Given the description of an element on the screen output the (x, y) to click on. 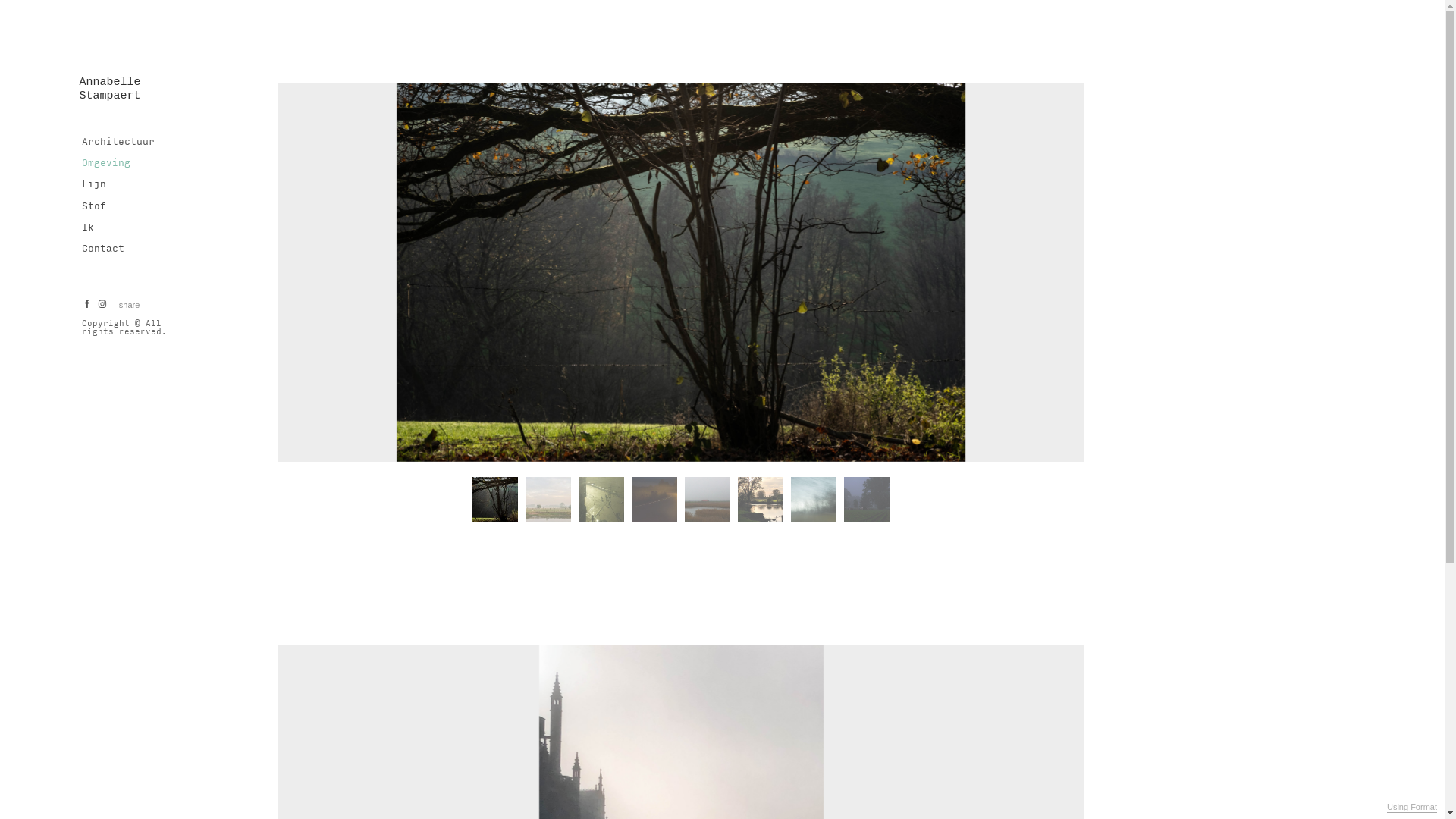
Architectuur Element type: text (118, 141)
Annabelle Stampaert Element type: text (110, 88)
Contact Element type: text (103, 248)
Stof Element type: text (94, 205)
Ik Element type: text (88, 227)
share Element type: text (129, 304)
Using Format Element type: text (1411, 807)
Omgeving Element type: text (106, 162)
Lijn Element type: text (94, 183)
